Given the description of an element on the screen output the (x, y) to click on. 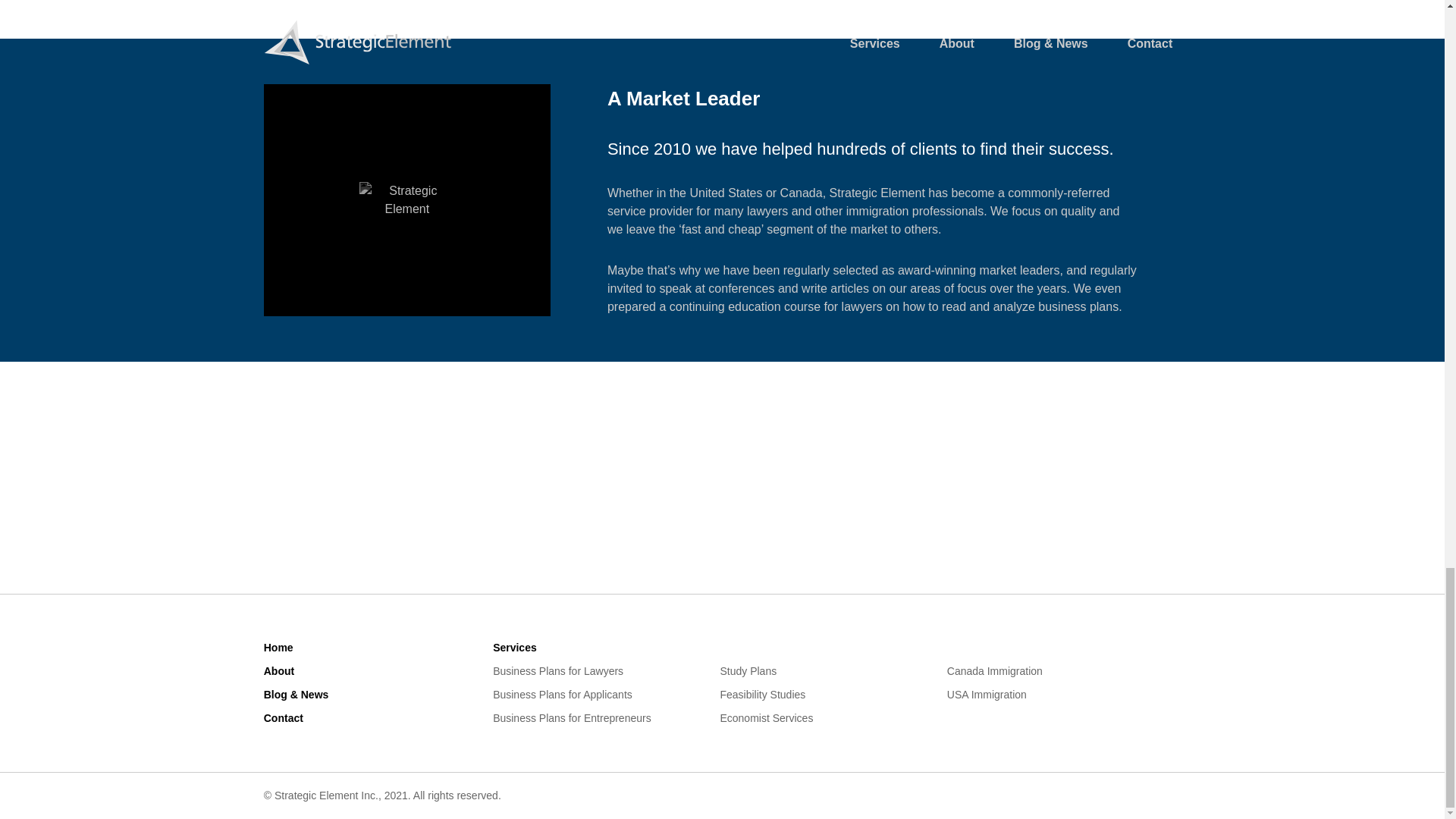
About (278, 671)
Contact (282, 717)
Services (515, 647)
Business Plans for Entrepreneurs (571, 717)
Business Plans for Lawyers (558, 671)
Business Plans for Applicants (562, 694)
Home (278, 647)
